Given the description of an element on the screen output the (x, y) to click on. 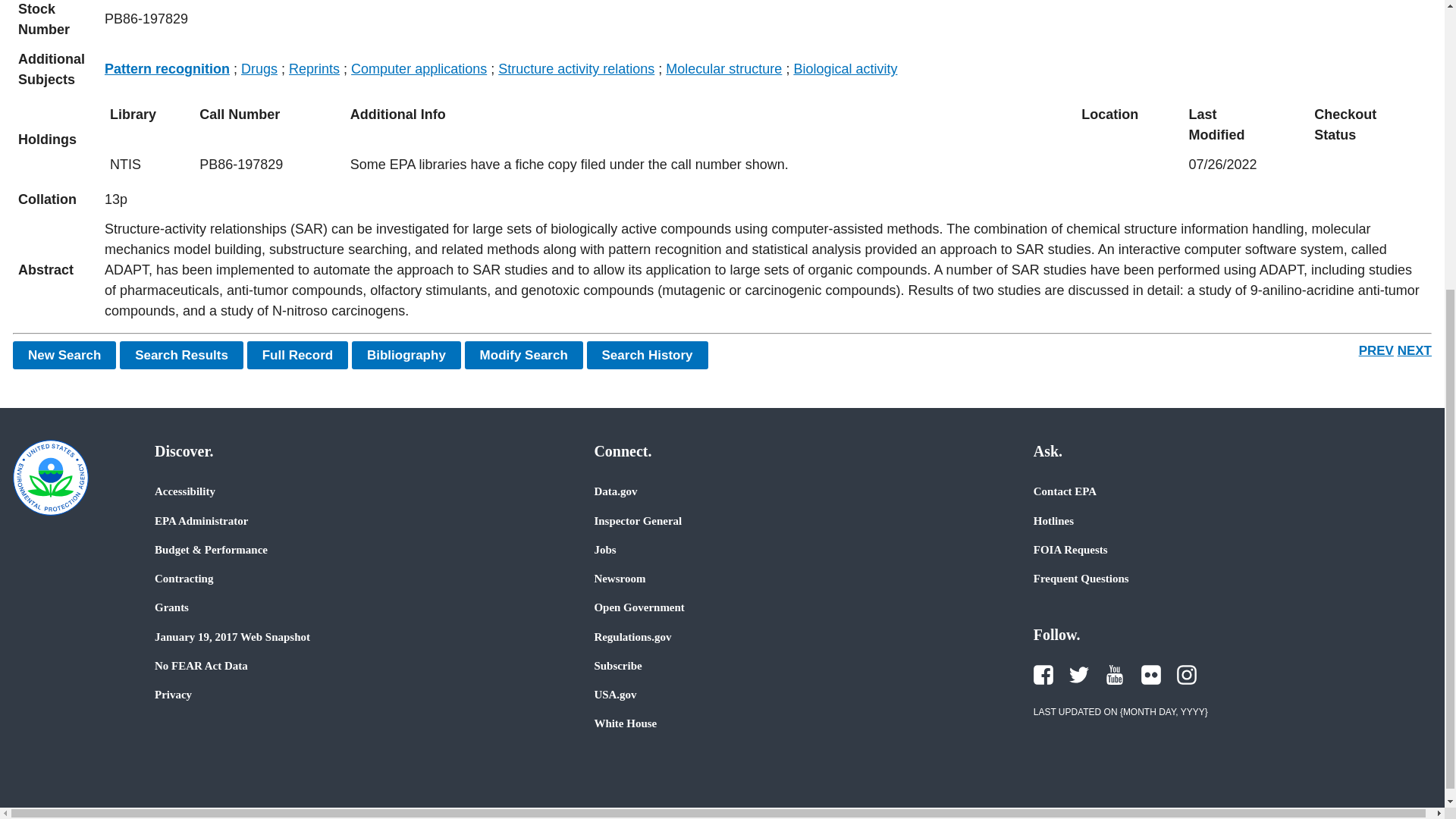
Create a New Search (64, 355)
Inspector General (637, 520)
Molecular structure (723, 68)
Subscribe (618, 665)
Modify Search (523, 355)
EPA Administrator (200, 520)
Full Record (298, 355)
Search History (646, 355)
Computer applications (418, 68)
Show results in standard format (181, 355)
Reprints (313, 68)
Newsroom (619, 578)
Grants (171, 607)
Bibliography (406, 355)
PREV (1375, 350)
